Given the description of an element on the screen output the (x, y) to click on. 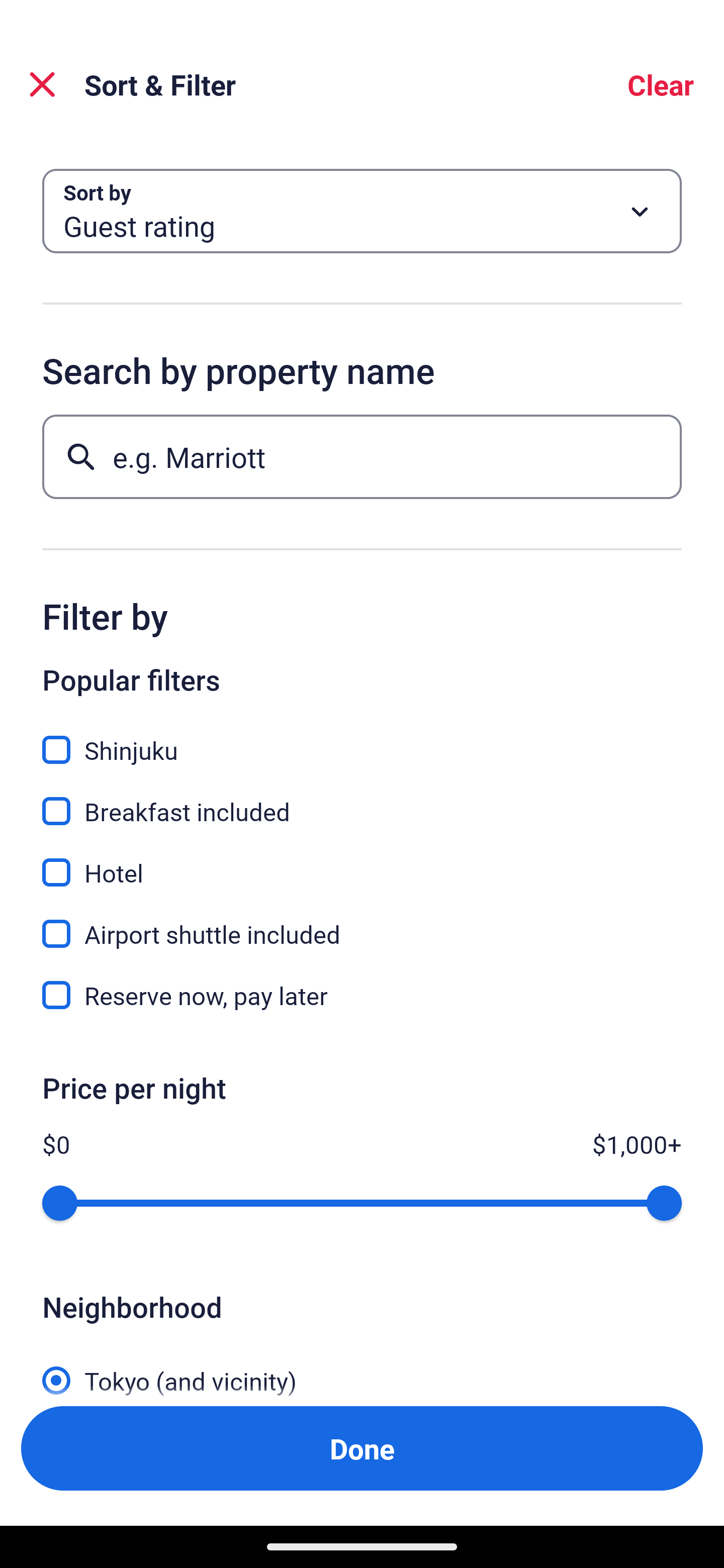
Close Sort and Filter (42, 84)
Clear (660, 84)
Sort by Button Guest rating (361, 211)
e.g. Marriott Button (361, 455)
Shinjuku, Shinjuku (361, 738)
Breakfast included, Breakfast included (361, 800)
Hotel, Hotel (361, 861)
Airport shuttle included, Airport shuttle included (361, 922)
Reserve now, pay later, Reserve now, pay later (361, 995)
Apply and close Sort and Filter Done (361, 1448)
